Given the description of an element on the screen output the (x, y) to click on. 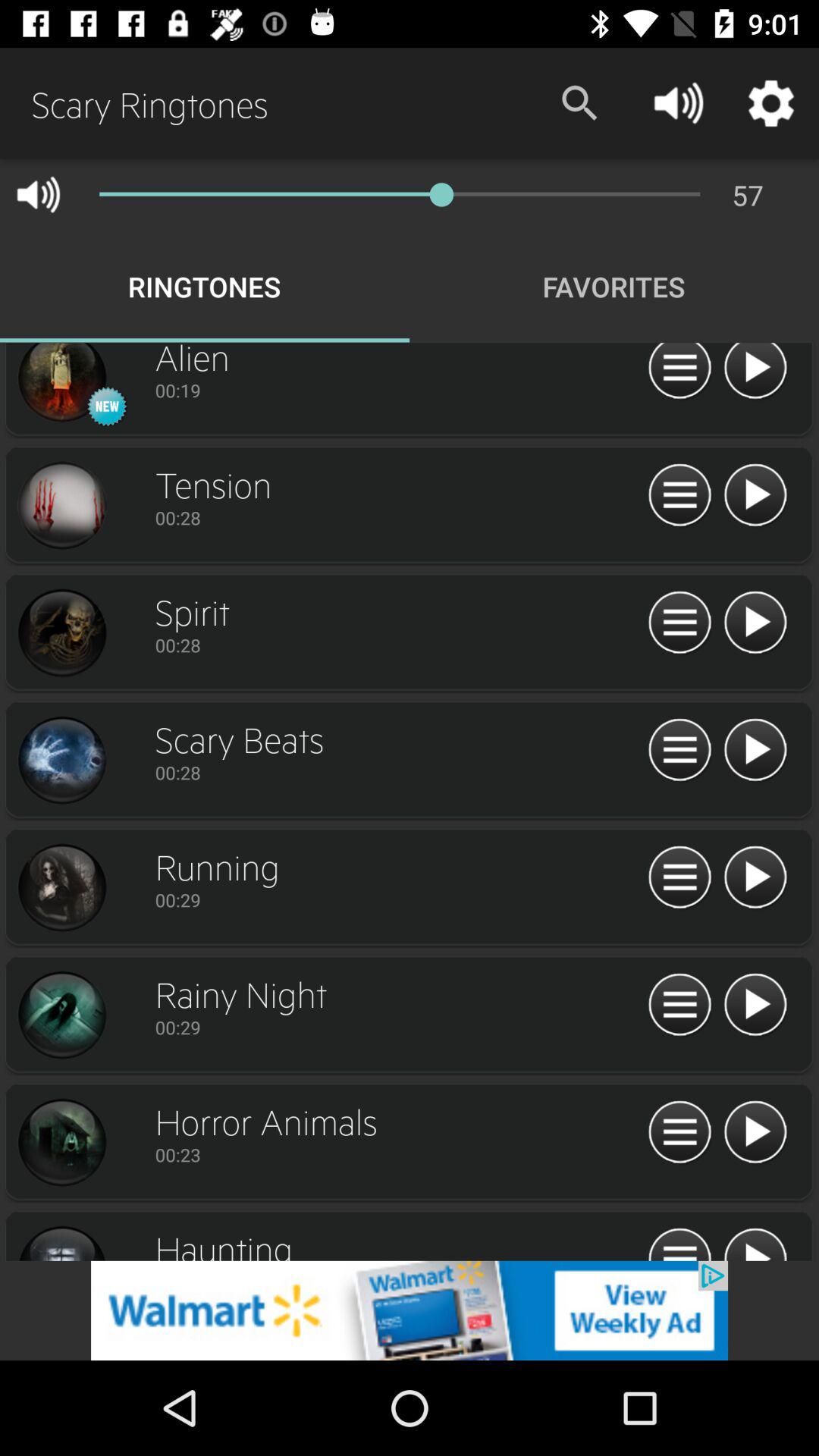
spirit screenshot for ringtone (61, 633)
